Given the description of an element on the screen output the (x, y) to click on. 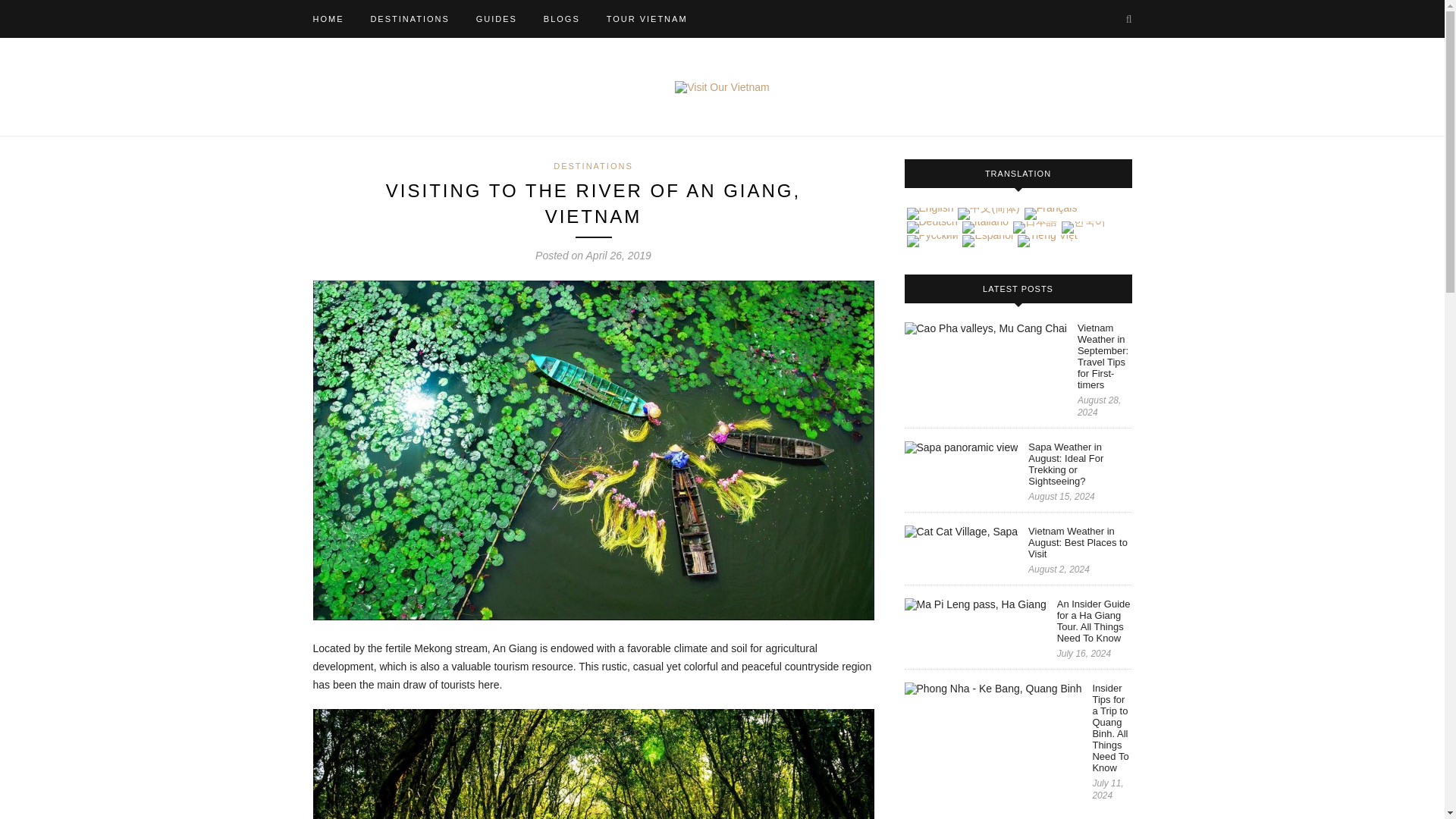
GUIDES (496, 18)
English (929, 213)
Sapa Weather in August: Ideal For Trekking or Sightseeing? (1079, 463)
DESTINATIONS (408, 18)
Deutsch (931, 227)
DESTINATIONS (592, 165)
BLOGS (561, 18)
Italiano (984, 227)
Vietnam Weather in August: Best Places to Visit (1079, 542)
